Given the description of an element on the screen output the (x, y) to click on. 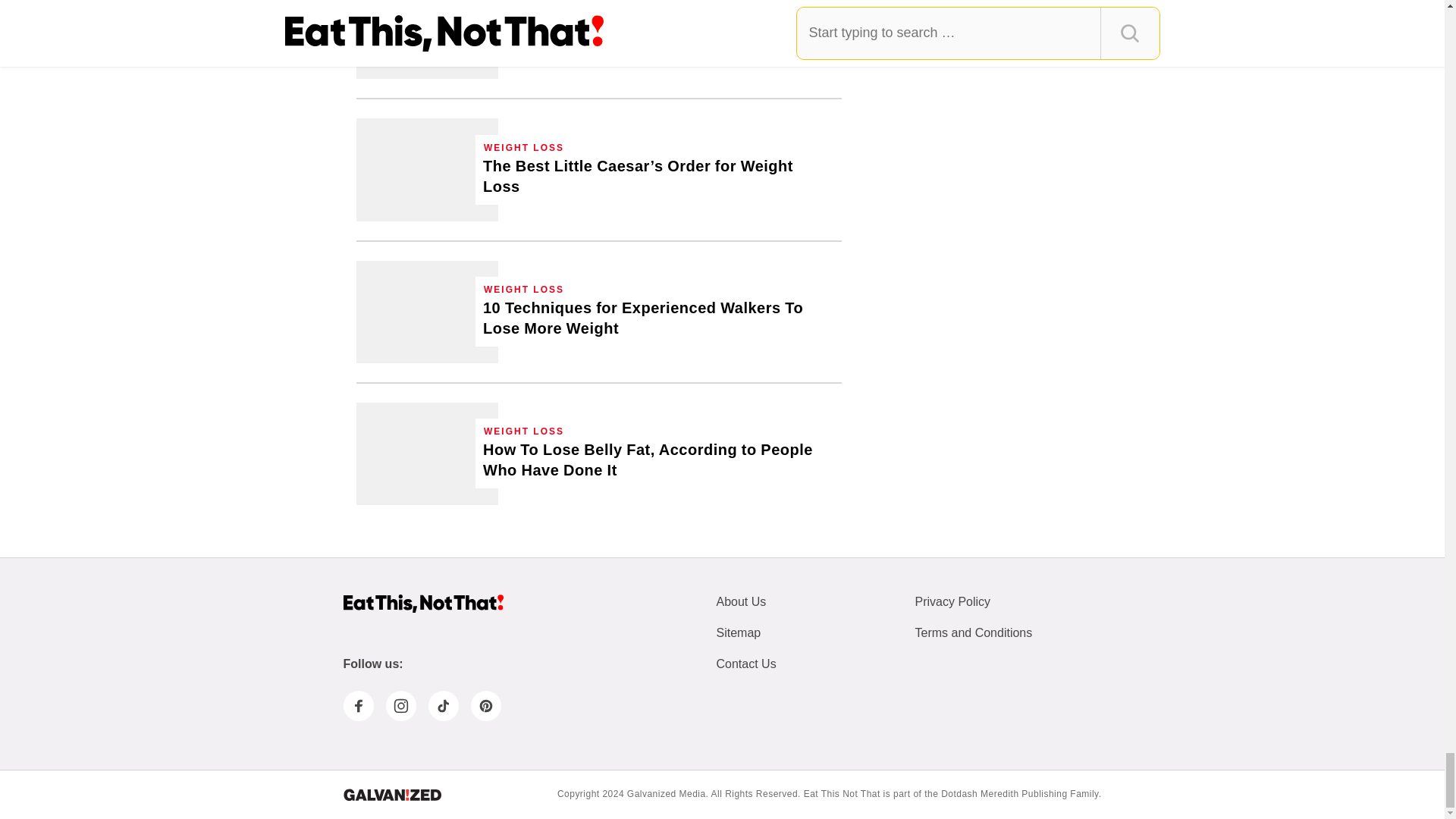
10 Techniques for Experienced Walkers To Lose More Weight (658, 318)
10 Techniques for Experienced Walkers To Lose More Weight (426, 312)
The Best Little Caesar's Order for Weight Loss (426, 168)
The Best Little Caesar's Order for Weight Loss (658, 176)
How To Lose Belly Fat, According to People Who Have Done It (658, 459)
How To Lose Belly Fat, According to People Who Have Done It (426, 453)
